Given the description of an element on the screen output the (x, y) to click on. 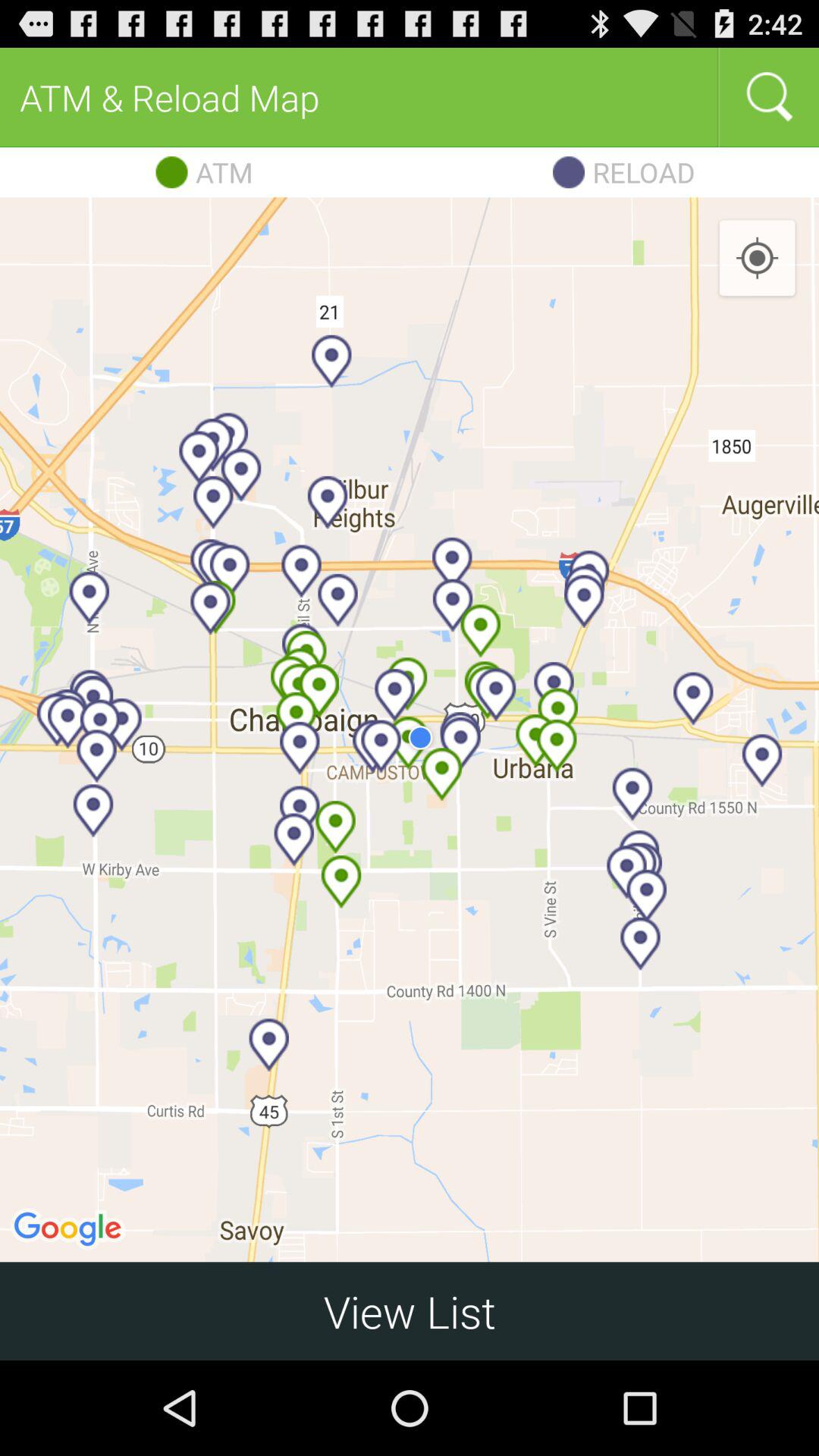
swipe until view list (409, 1311)
